Given the description of an element on the screen output the (x, y) to click on. 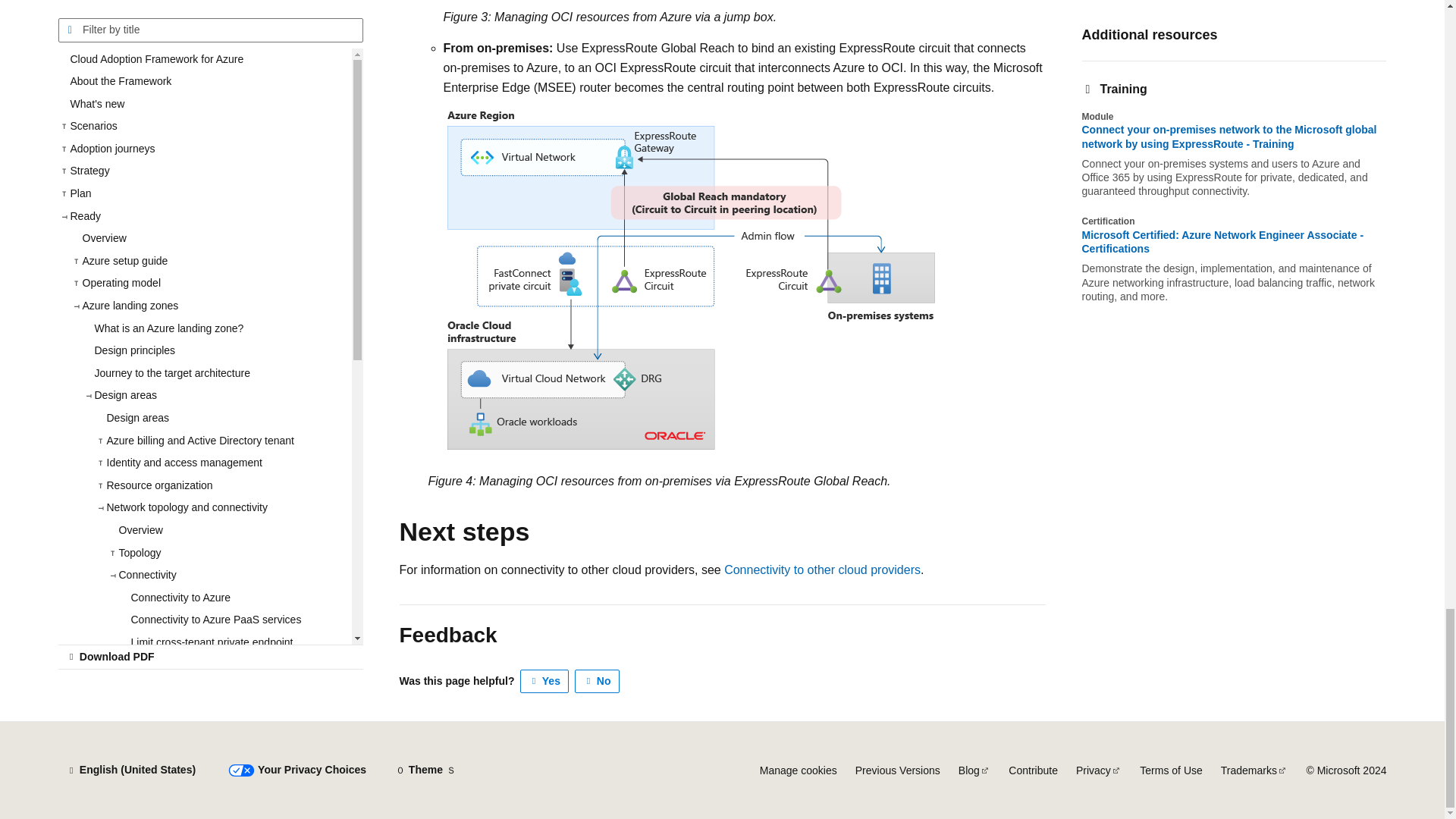
This article is not helpful (597, 681)
This article is helpful (544, 681)
Theme (425, 770)
